Given the description of an element on the screen output the (x, y) to click on. 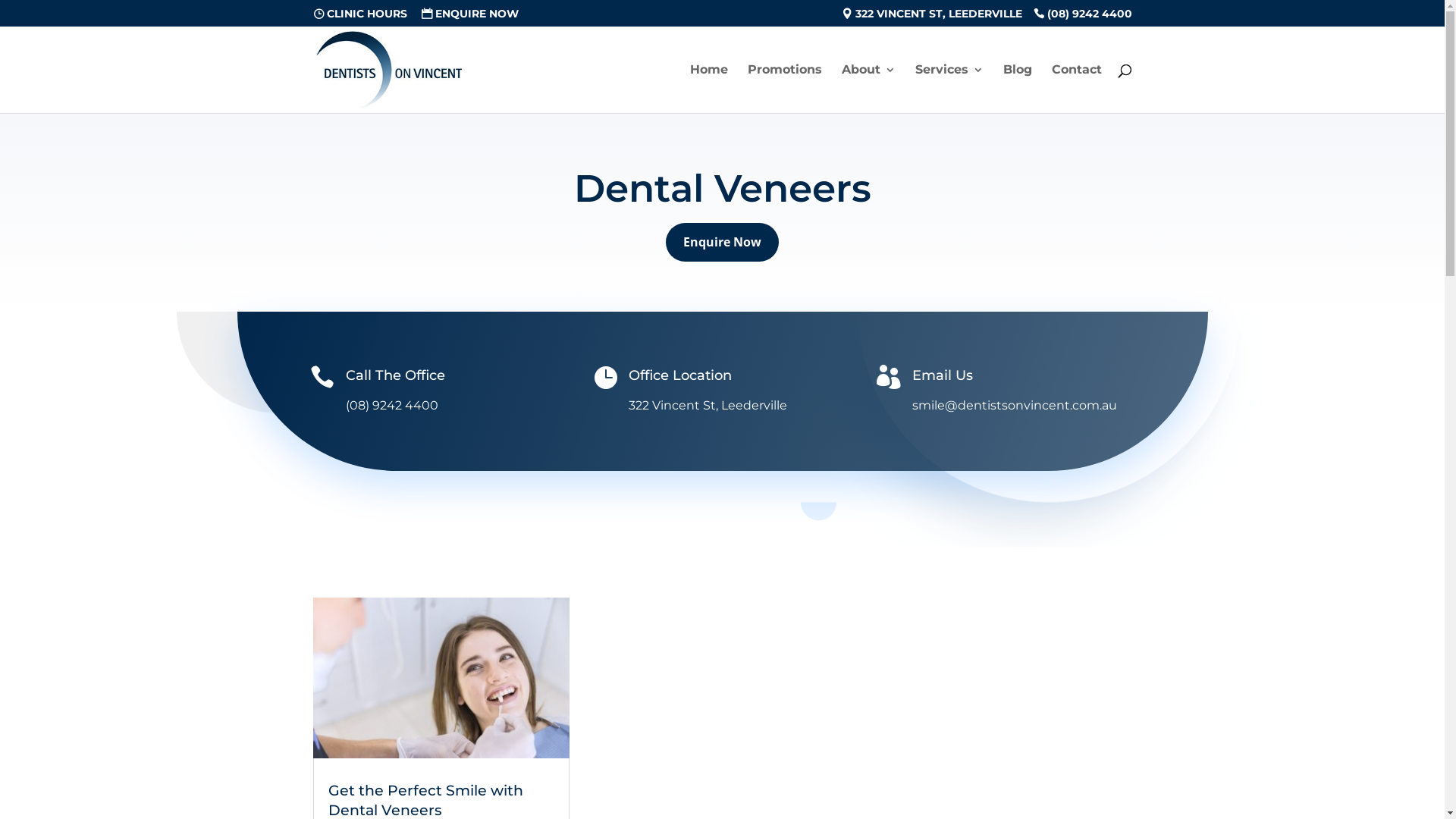
About Element type: text (868, 88)
CLINIC HOURS Element type: text (359, 16)
Services Element type: text (948, 88)
(08) 9242 4400 Element type: text (1081, 16)
Home Element type: text (709, 88)
Blog Element type: text (1016, 88)
Contact Element type: text (1076, 88)
Enquire Now Element type: text (721, 241)
322 VINCENT ST, LEEDERVILLE Element type: text (931, 16)
ENQUIRE NOW Element type: text (469, 16)
Promotions Element type: text (784, 88)
